Given the description of an element on the screen output the (x, y) to click on. 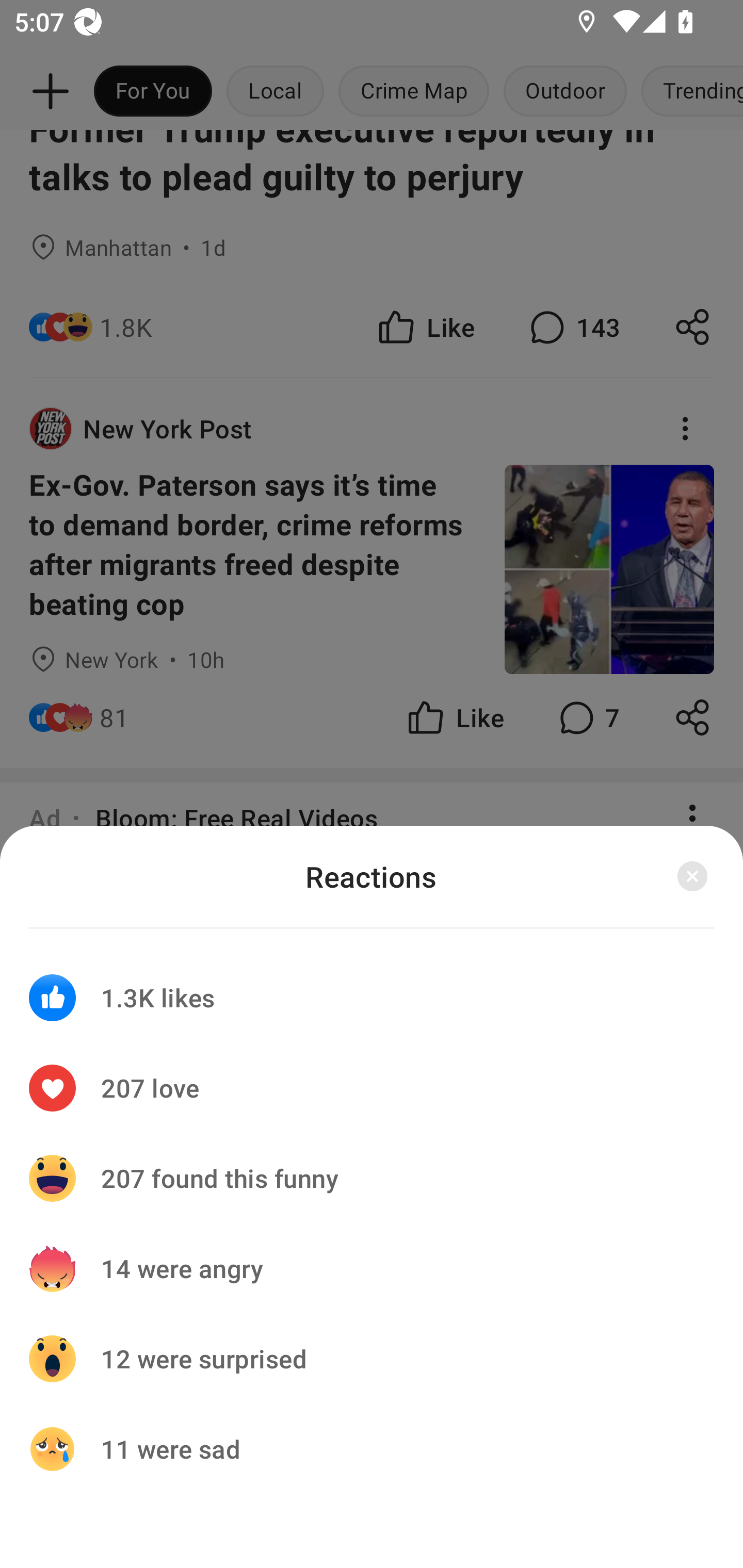
1.3K likes (371, 985)
207 love (371, 1087)
207 found this funny (371, 1178)
14 were angry (371, 1268)
12 were surprised (371, 1358)
11 were sad (371, 1448)
